Given the description of an element on the screen output the (x, y) to click on. 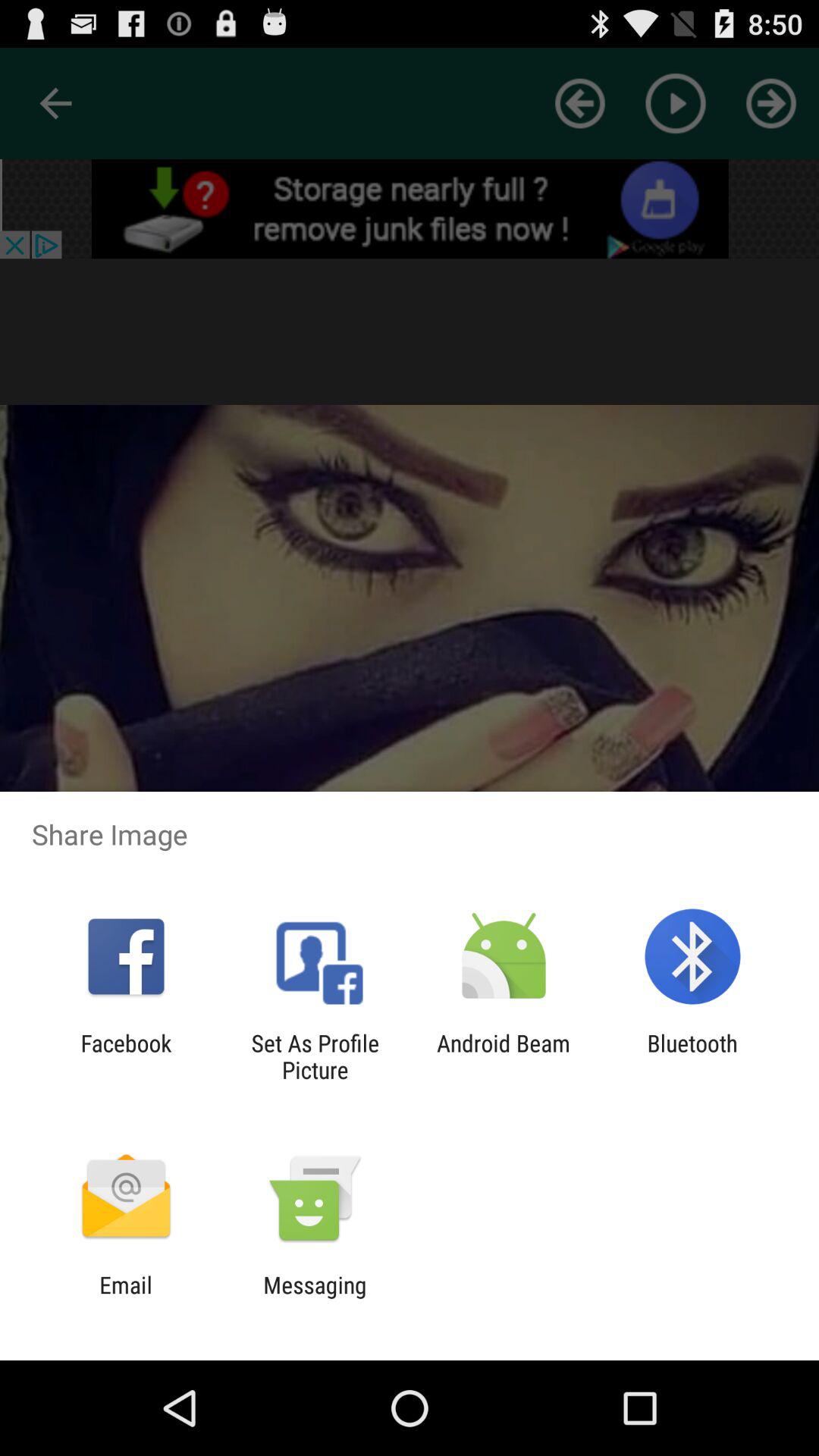
turn off the messaging (314, 1298)
